Given the description of an element on the screen output the (x, y) to click on. 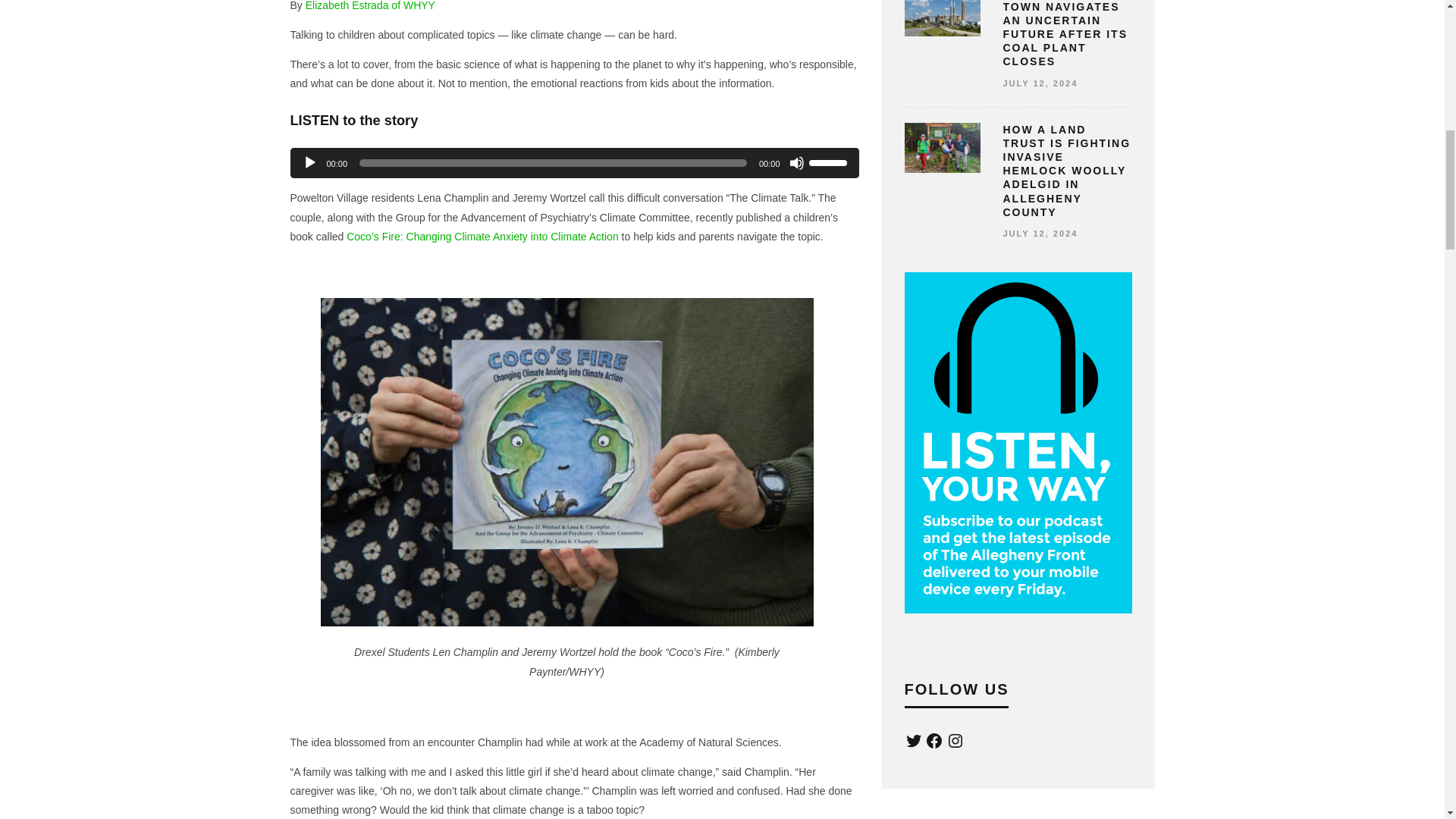
Mute (796, 162)
Play (309, 162)
